Given the description of an element on the screen output the (x, y) to click on. 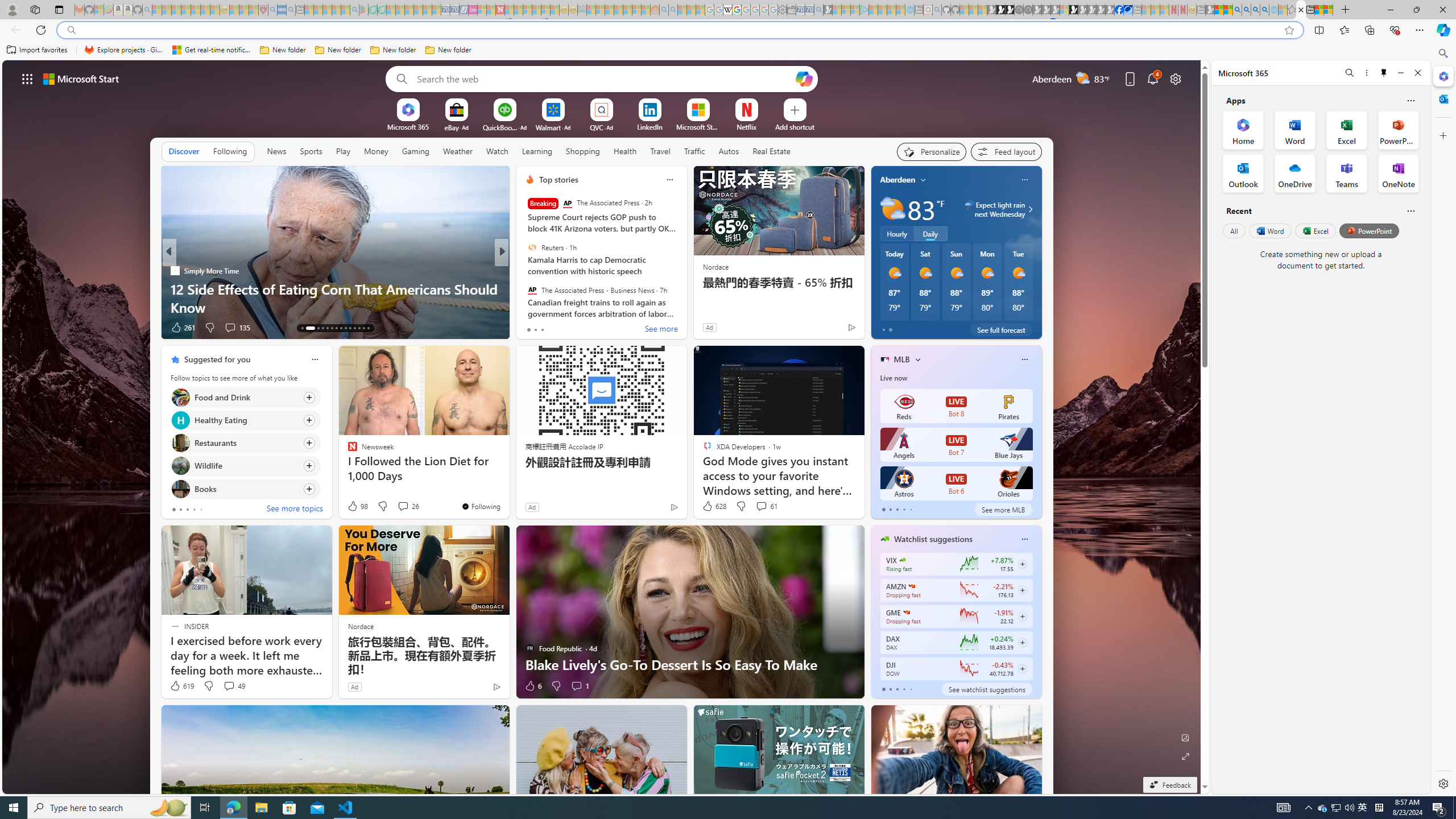
View comments 81 Comment (580, 327)
Click to follow topic Food and Drink (245, 397)
Eggs All Ways (524, 288)
View comments 61 Comment (761, 505)
AutomationID: tab-13 (301, 328)
45 Like (530, 327)
Favorites - Sleeping (1291, 9)
AirNow.gov (1127, 9)
